Given the description of an element on the screen output the (x, y) to click on. 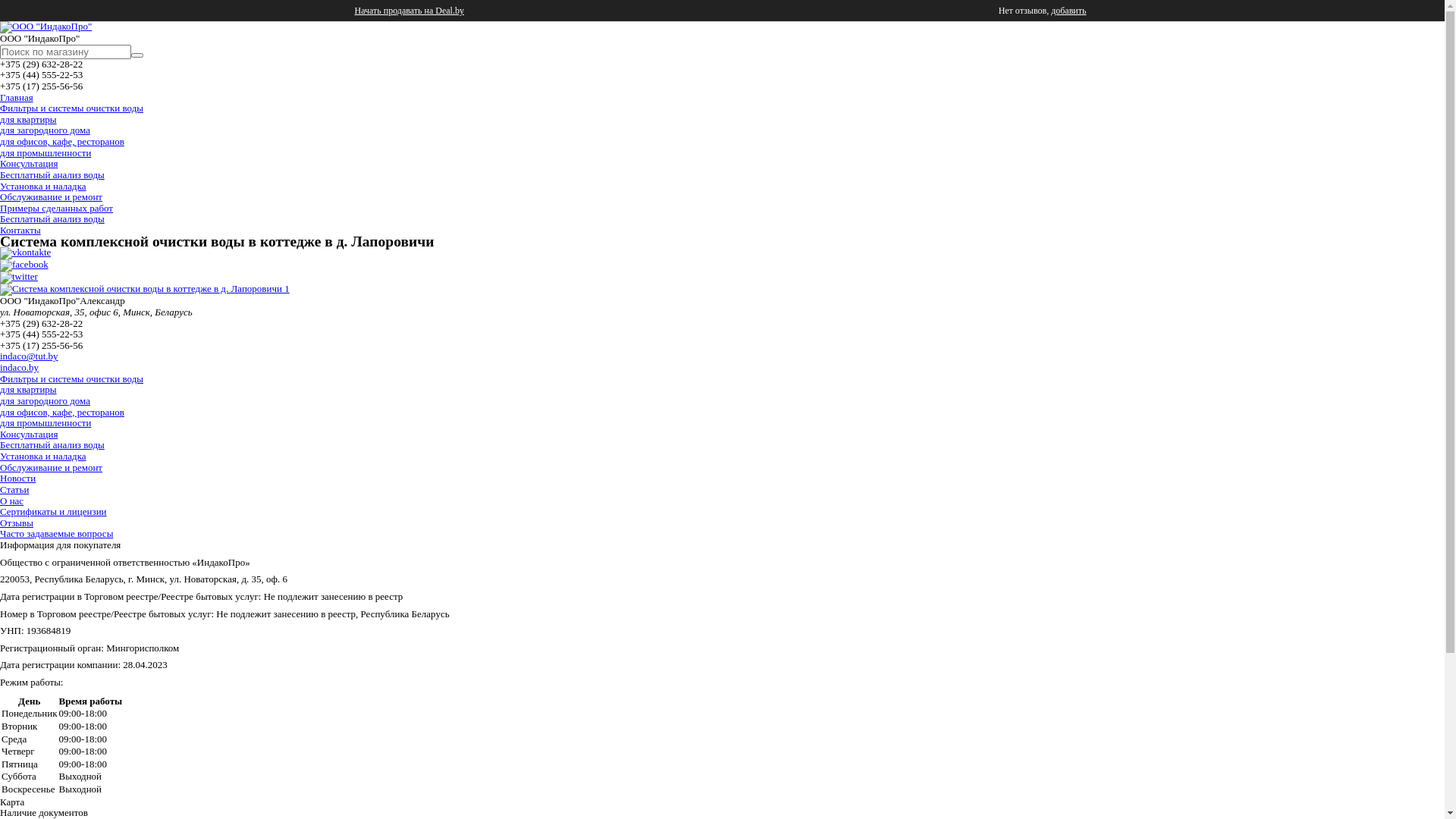
indaco@tut.by Element type: text (29, 355)
twitter Element type: hover (18, 276)
facebook Element type: hover (24, 263)
indaco.by Element type: text (19, 367)
